Given the description of an element on the screen output the (x, y) to click on. 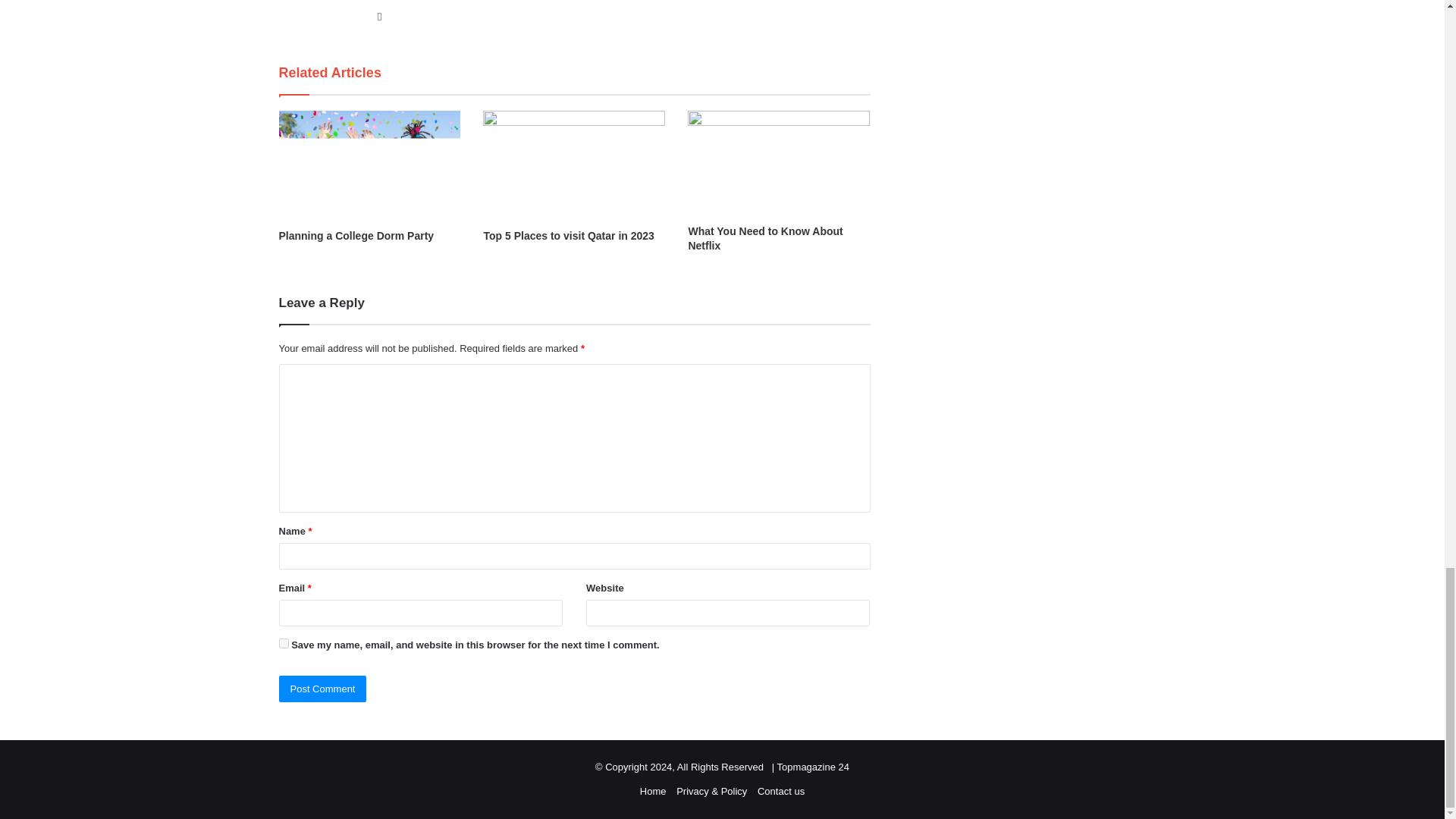
yes (283, 643)
Planning a College Dorm Party (356, 235)
Post Comment (322, 688)
Website (379, 15)
